Given the description of an element on the screen output the (x, y) to click on. 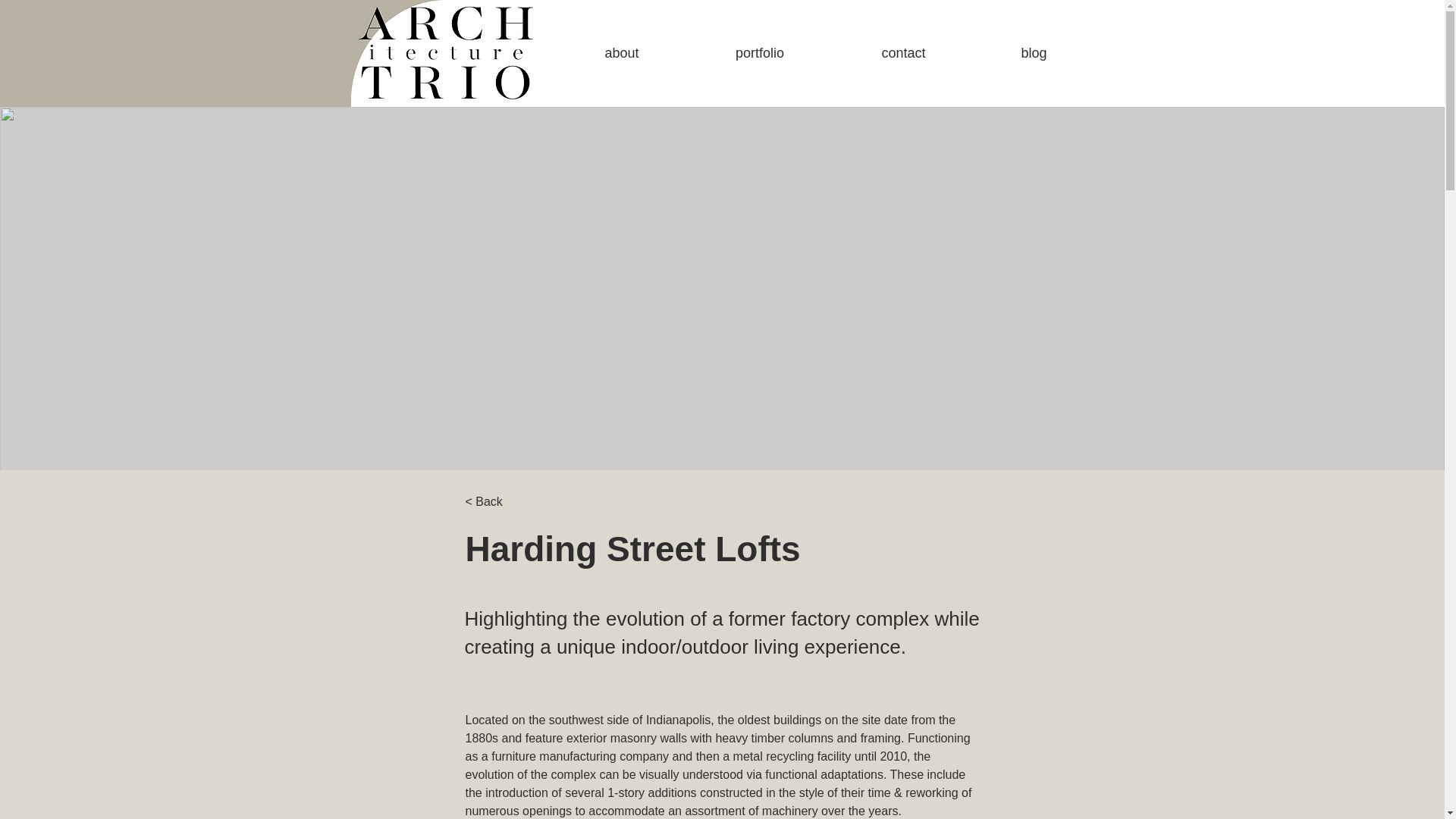
about (620, 53)
portfolio (759, 53)
blog (1033, 53)
contact (903, 53)
